Given the description of an element on the screen output the (x, y) to click on. 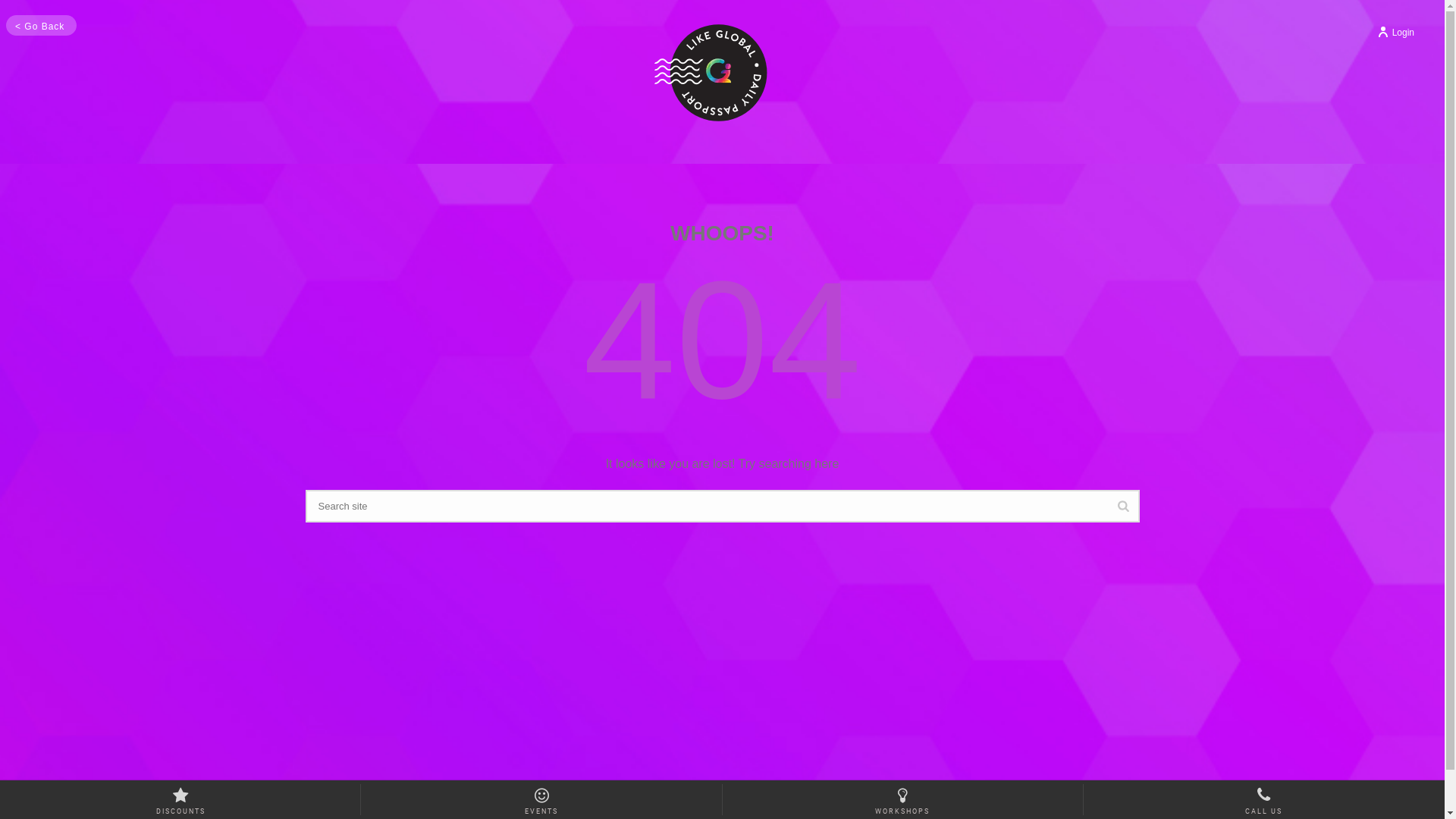
Login Element type: text (1395, 32)
Your Daily Passport Element type: hover (711, 73)
< Go Back Element type: text (39, 26)
Like Global Element type: hover (688, 90)
